Given the description of an element on the screen output the (x, y) to click on. 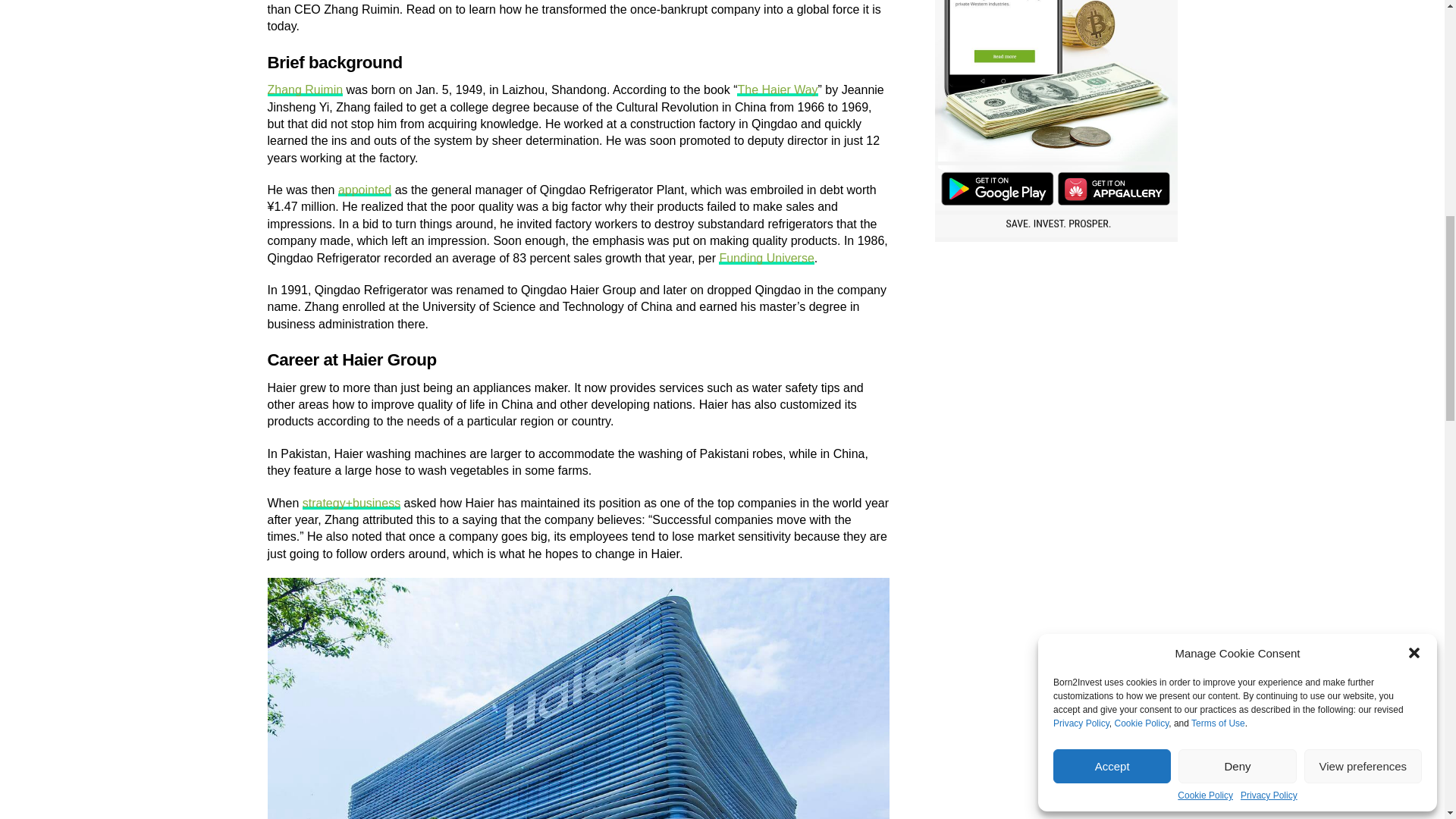
Advertisement (1055, 359)
